Given the description of an element on the screen output the (x, y) to click on. 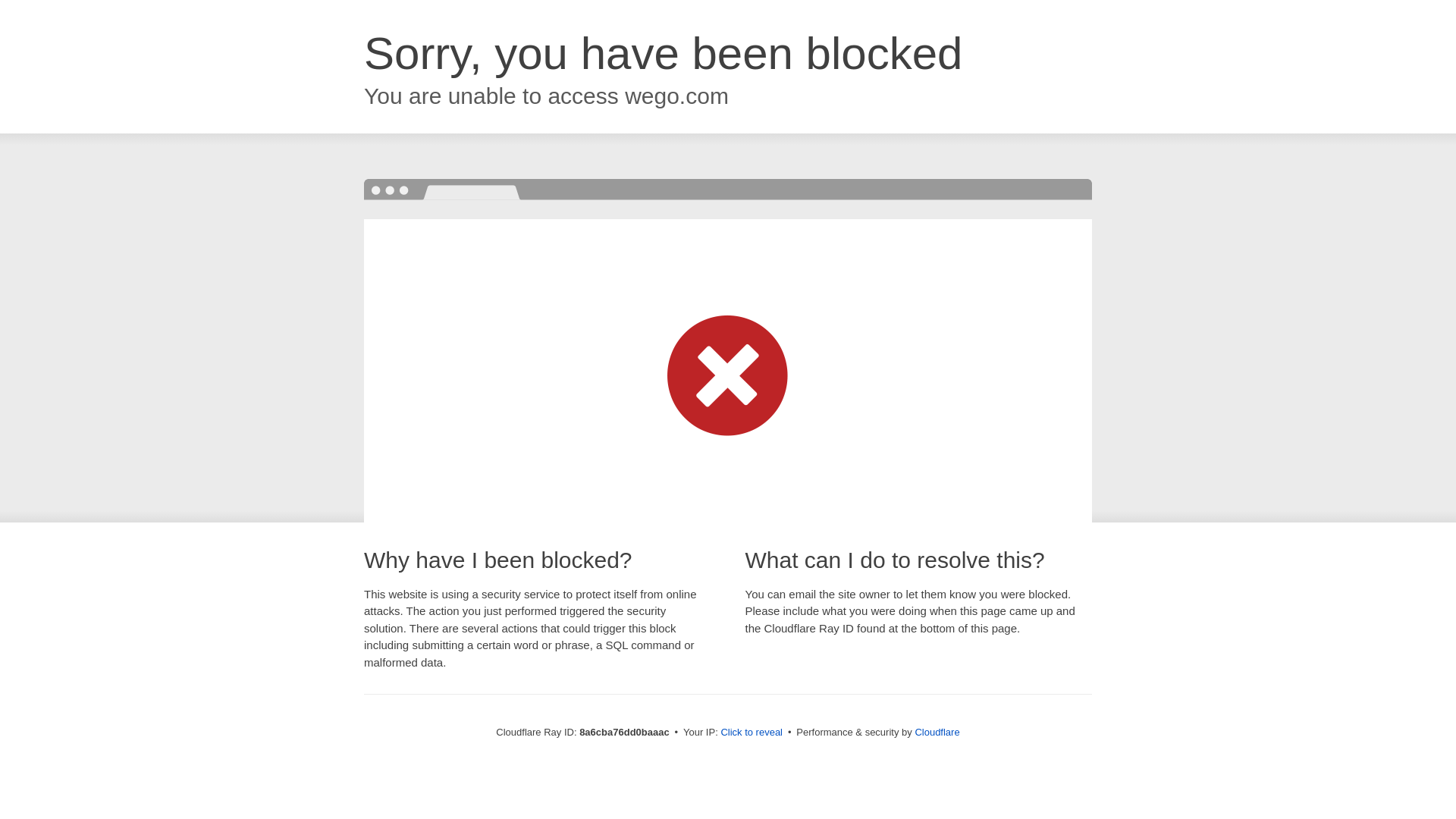
Cloudflare (936, 731)
Click to reveal (751, 732)
